Given the description of an element on the screen output the (x, y) to click on. 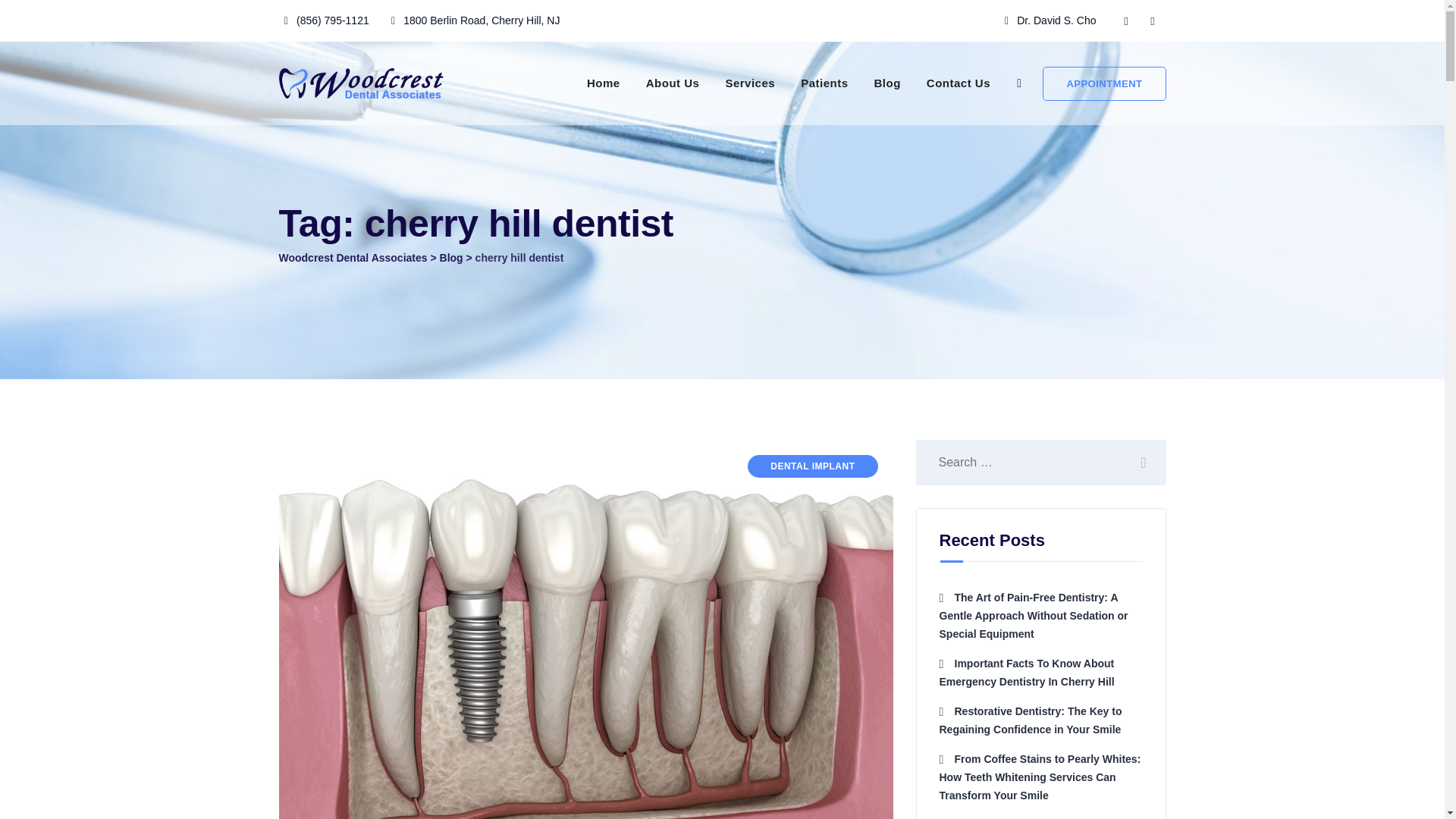
Dr. David S. Cho (1056, 20)
Go to Blog. (451, 257)
APPOINTMENT (1104, 83)
Woodcrest Dental Associates (364, 82)
1800 Berlin Road, Cherry Hill, NJ (481, 20)
Go to Woodcrest Dental Associates. (353, 257)
DENTAL IMPLANT (813, 466)
Blog (451, 257)
Woodcrest Dental Associates (353, 257)
